Given the description of an element on the screen output the (x, y) to click on. 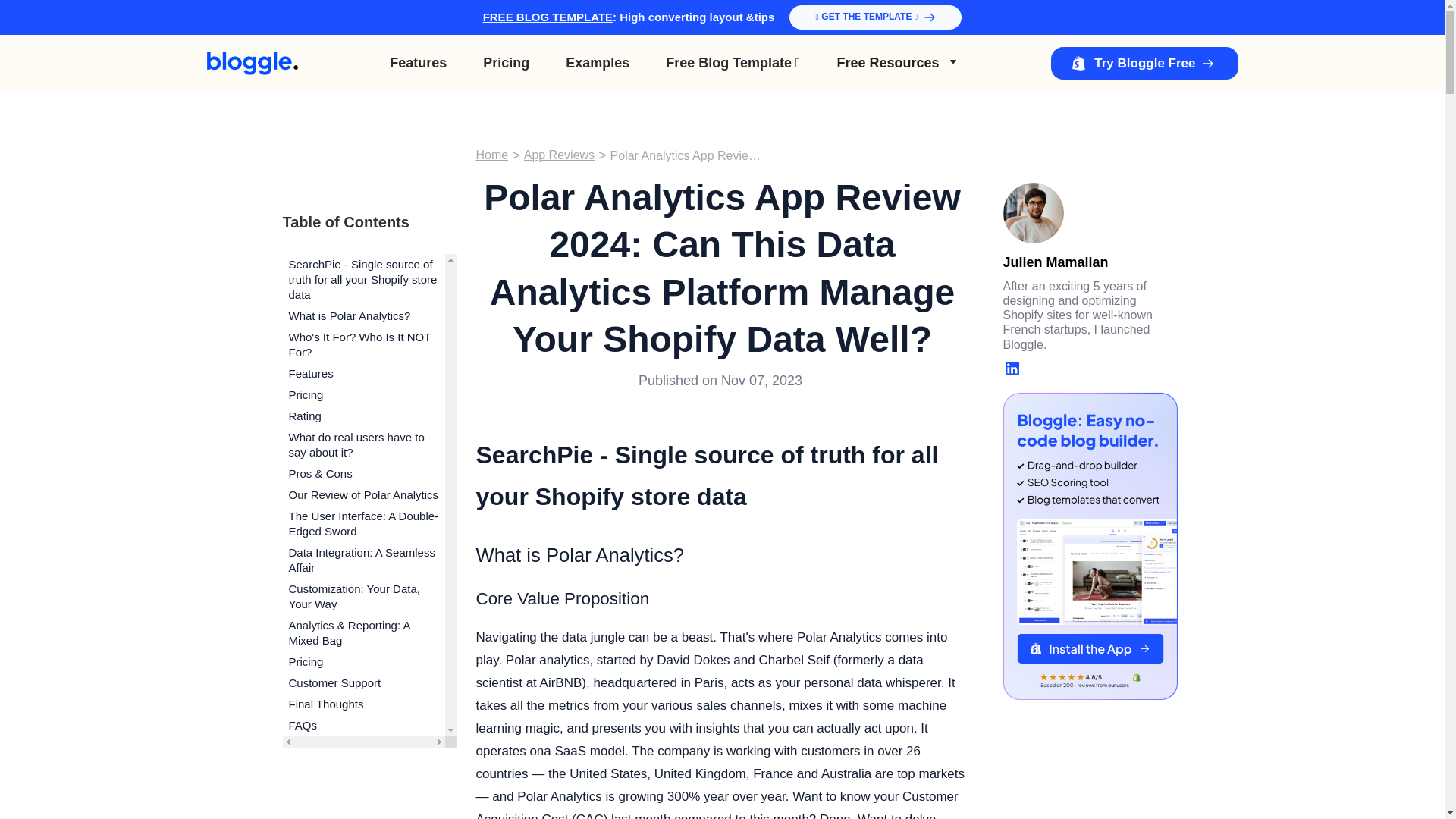
What is Polar Analytics? (363, 315)
Rating (363, 415)
Examples (597, 62)
Pricing (363, 394)
Features (363, 373)
Home (492, 155)
Features (417, 62)
Try Bloggle Free (1144, 62)
What do real users have to say about it? (363, 444)
Who's It For? Who Is It NOT For? (363, 344)
